Given the description of an element on the screen output the (x, y) to click on. 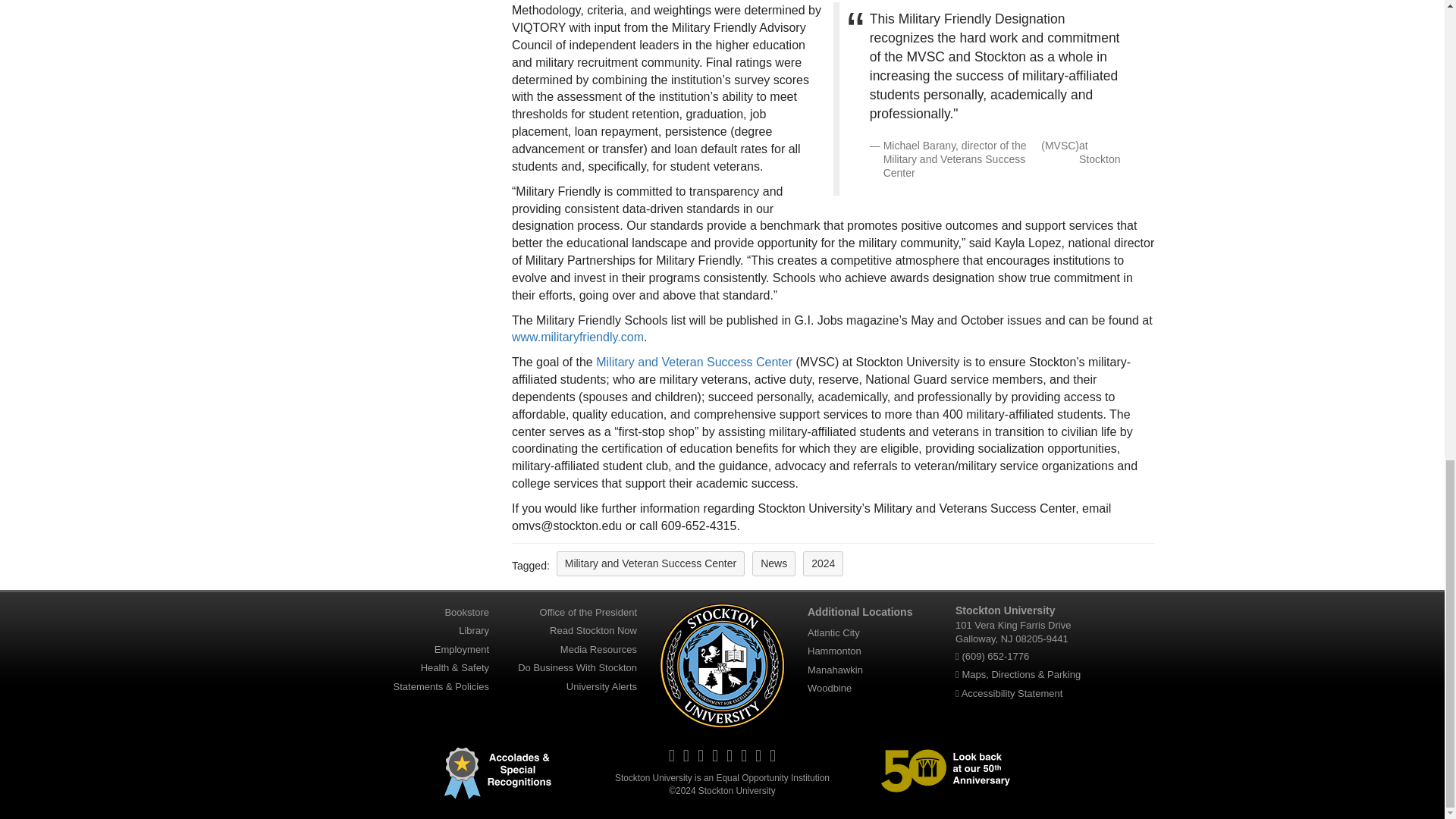
Office of the President (588, 611)
News (773, 563)
Read Stockton Now (593, 630)
Call with Google Voice (994, 655)
Do Business With Stockton (577, 667)
www.militaryfriendly.com (577, 336)
Media Resources (598, 649)
2024 (823, 563)
Military and Veteran Success Center (693, 361)
University Alerts (601, 686)
